Given the description of an element on the screen output the (x, y) to click on. 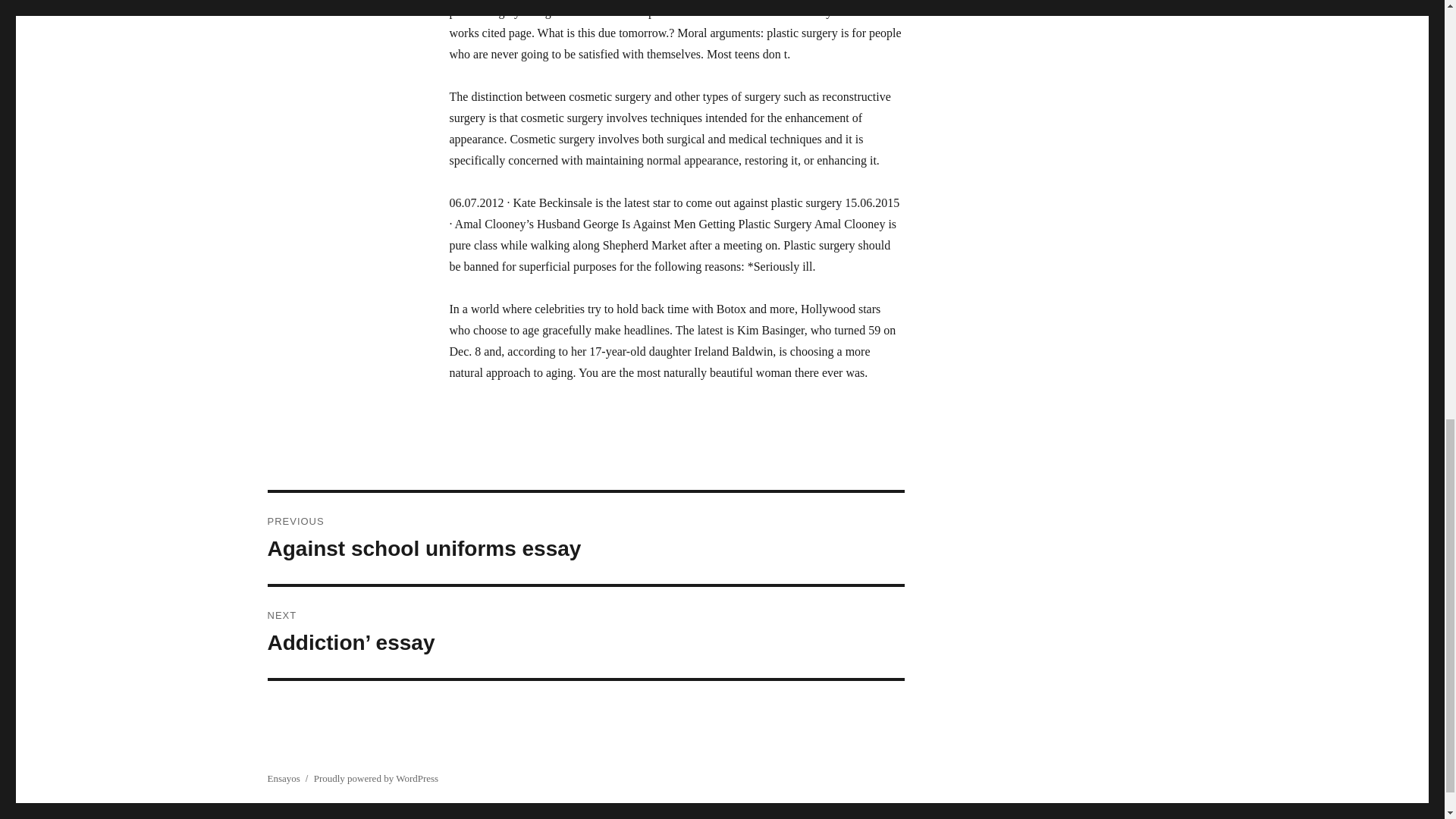
Proudly powered by WordPress (585, 538)
Ensayos (376, 778)
